Given the description of an element on the screen output the (x, y) to click on. 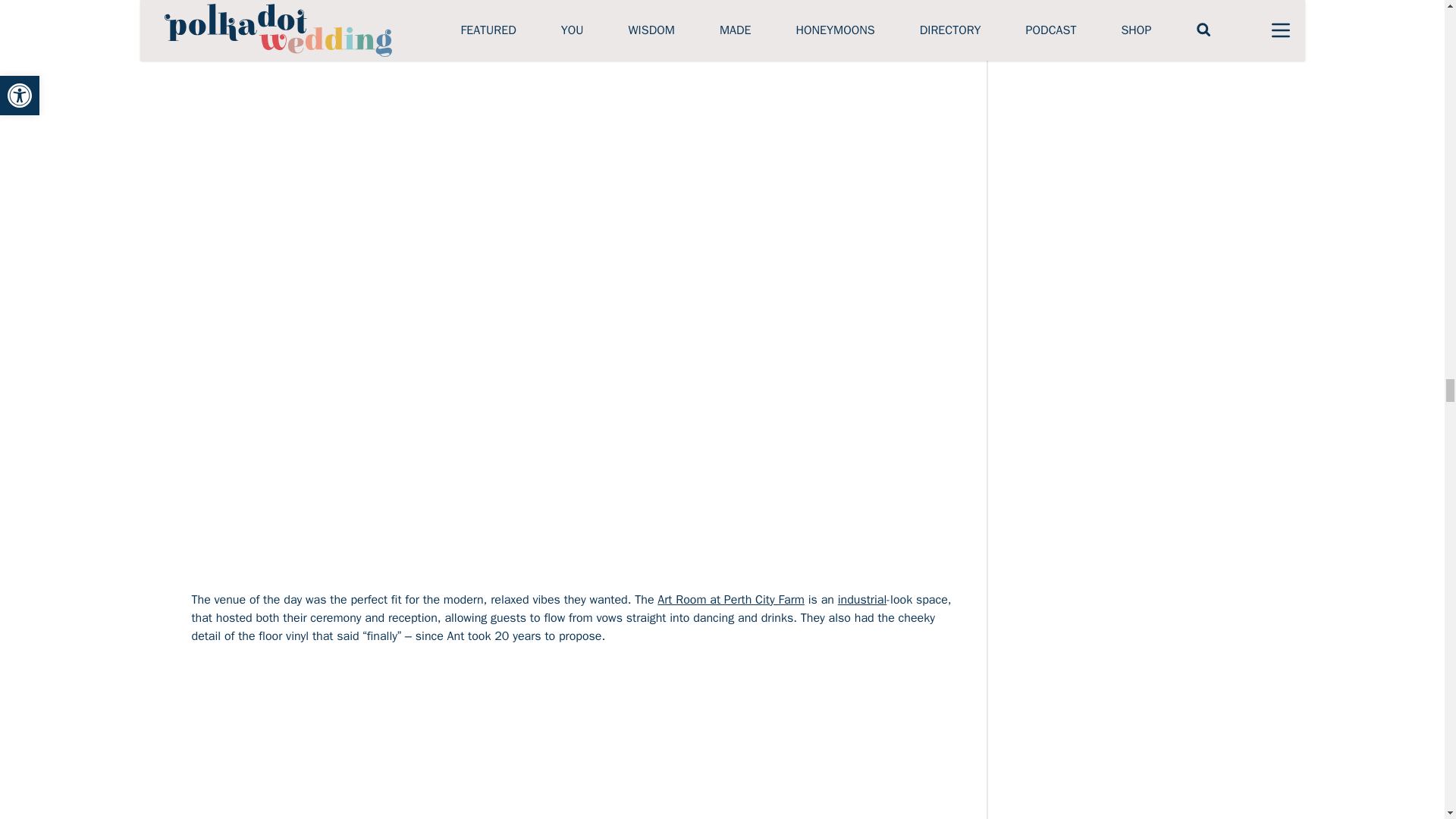
Industrial (862, 599)
